Given the description of an element on the screen output the (x, y) to click on. 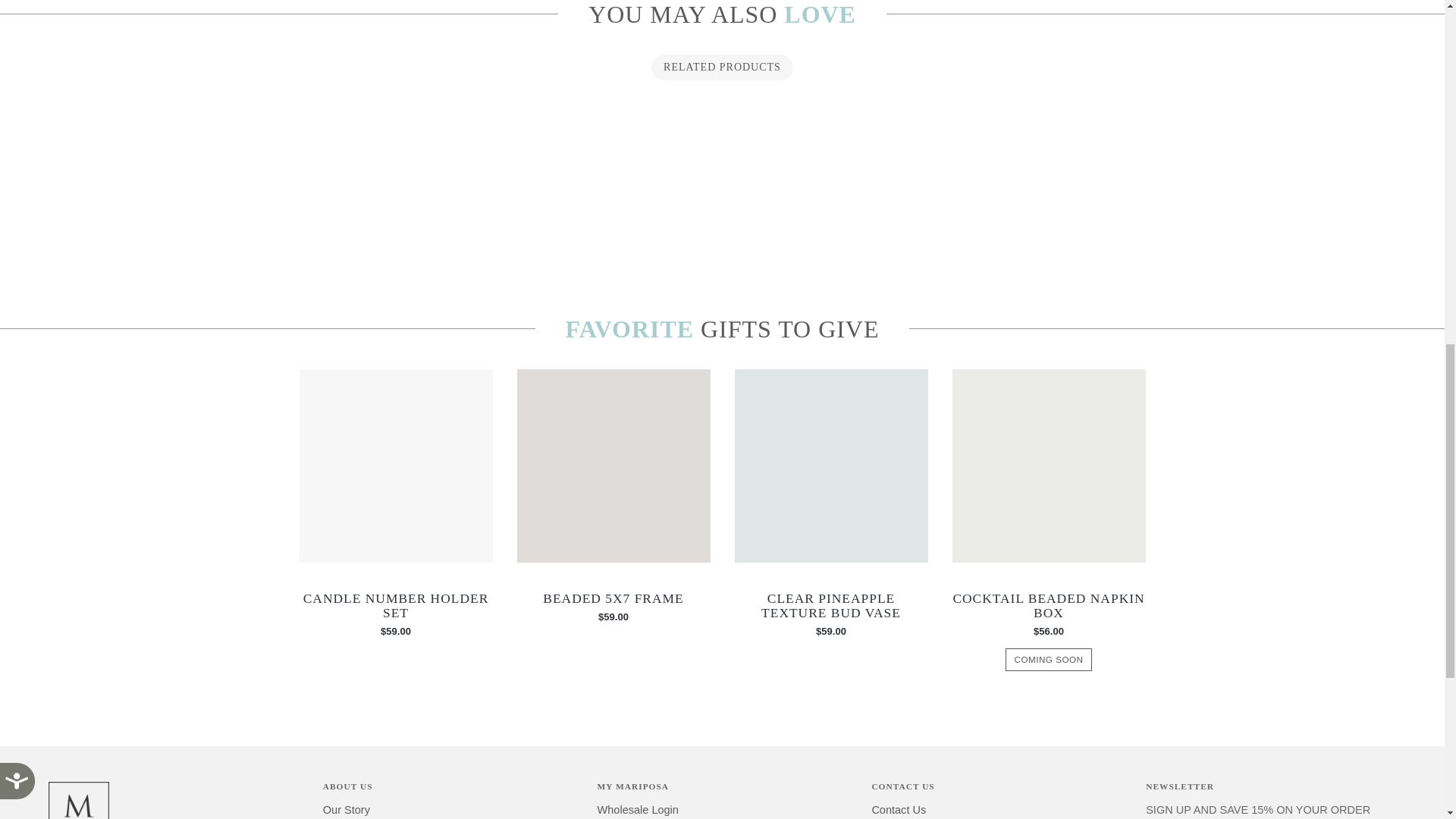
Accessibility (29, 2)
RELATED PRODUCTS (721, 67)
Contact Us (898, 810)
